Given the description of an element on the screen output the (x, y) to click on. 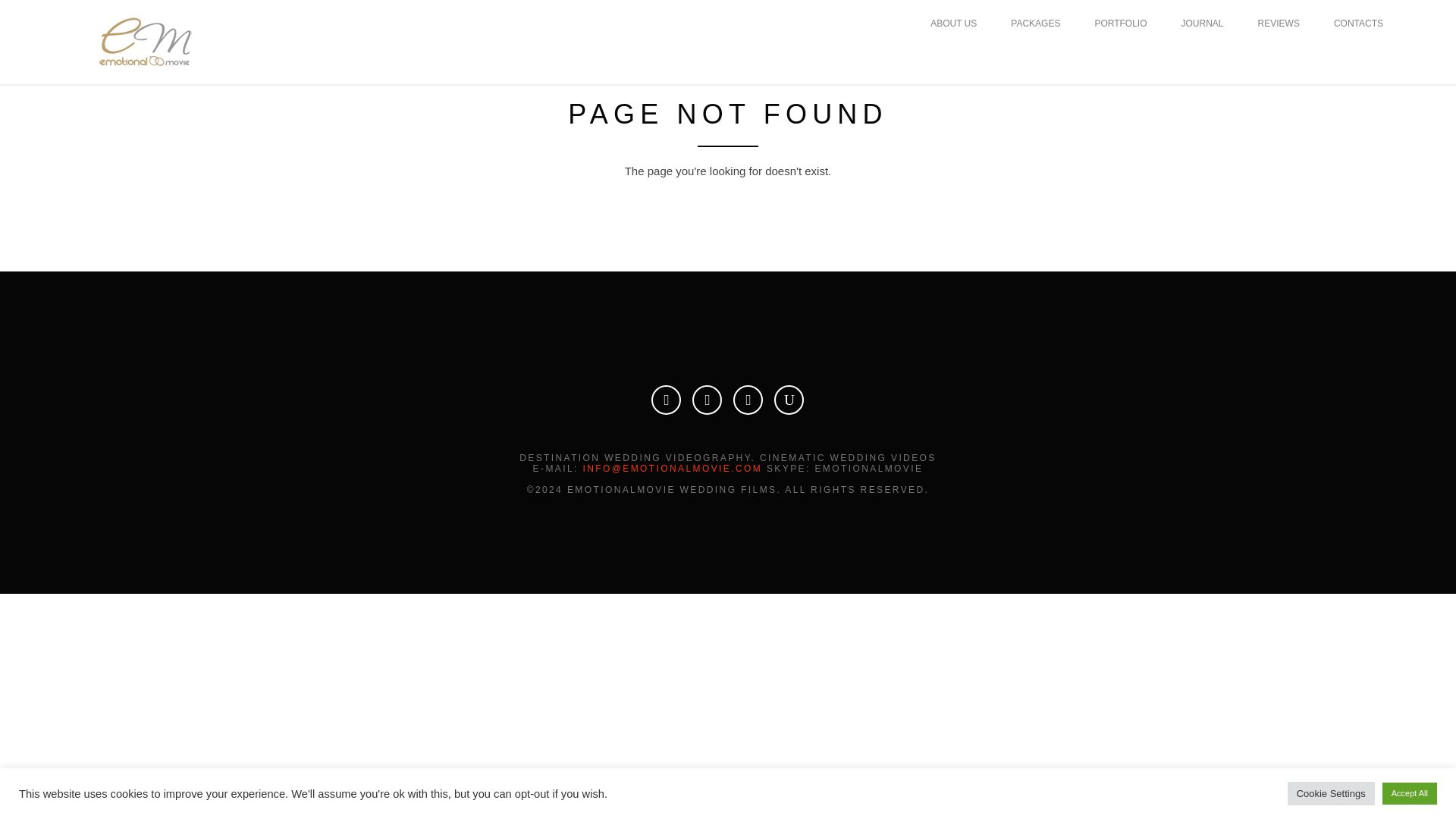
ABOUT US (953, 23)
Wedding Packages  (1034, 23)
PACKAGES (1034, 23)
Instagram (665, 399)
Vimeo (707, 399)
REVIEWS (1278, 23)
CONTACTS (1358, 23)
PORTFOLIO (1120, 23)
Contact us for our wedding videos (1358, 23)
YouTube (788, 399)
Wedding videographers Italy (1120, 23)
JOURNAL (1202, 23)
Facebook (747, 399)
Best wedding reviews (1278, 23)
